Given the description of an element on the screen output the (x, y) to click on. 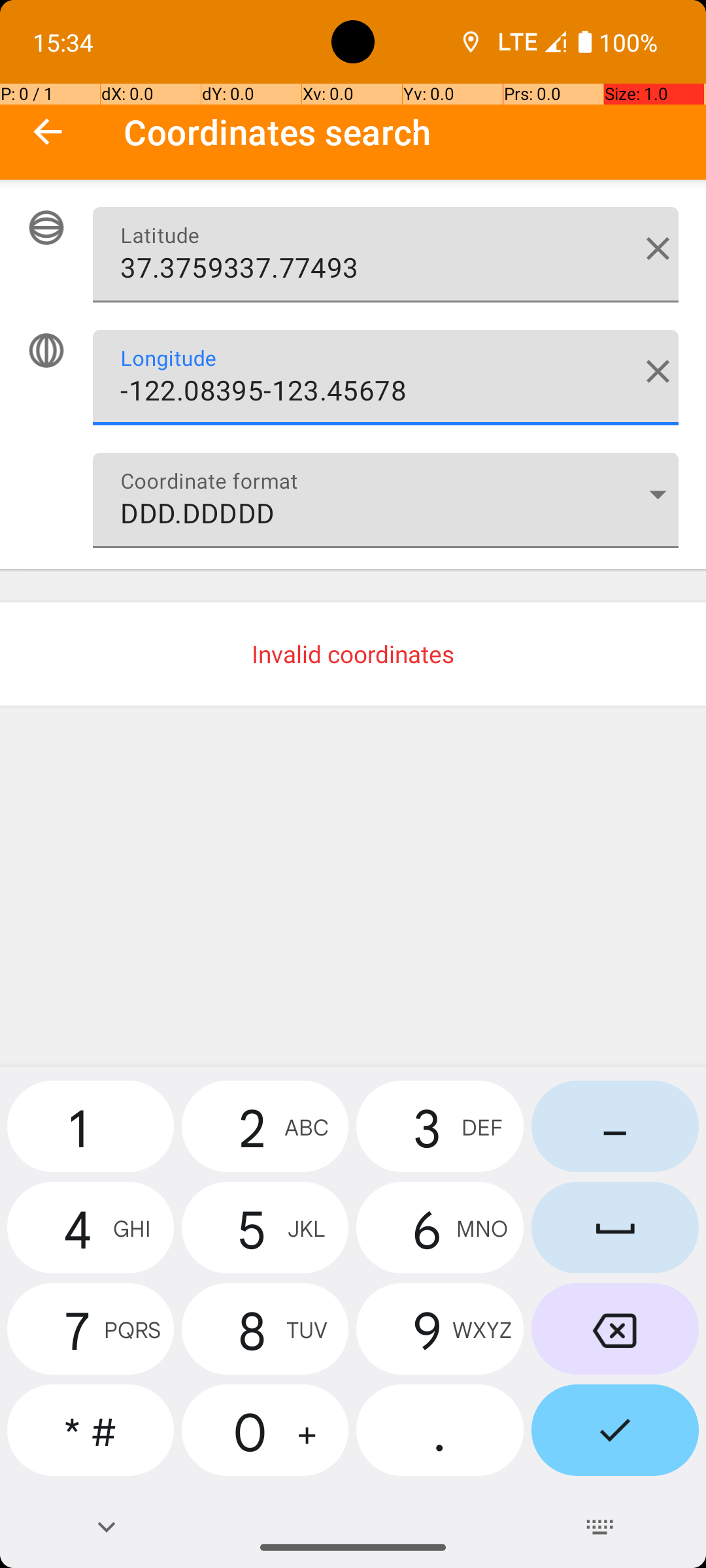
Coordinates search Element type: android.widget.TextView (414, 131)
37.3759337.77493 Element type: android.widget.EditText (385, 254)
-122.08395-123.45678 Element type: android.widget.EditText (385, 377)
DDD.DDDDD Element type: android.widget.EditText (385, 500)
Coordinate format Element type: android.widget.ImageButton (657, 493)
Invalid coordinates Element type: android.widget.TextView (352, 653)
